Given the description of an element on the screen output the (x, y) to click on. 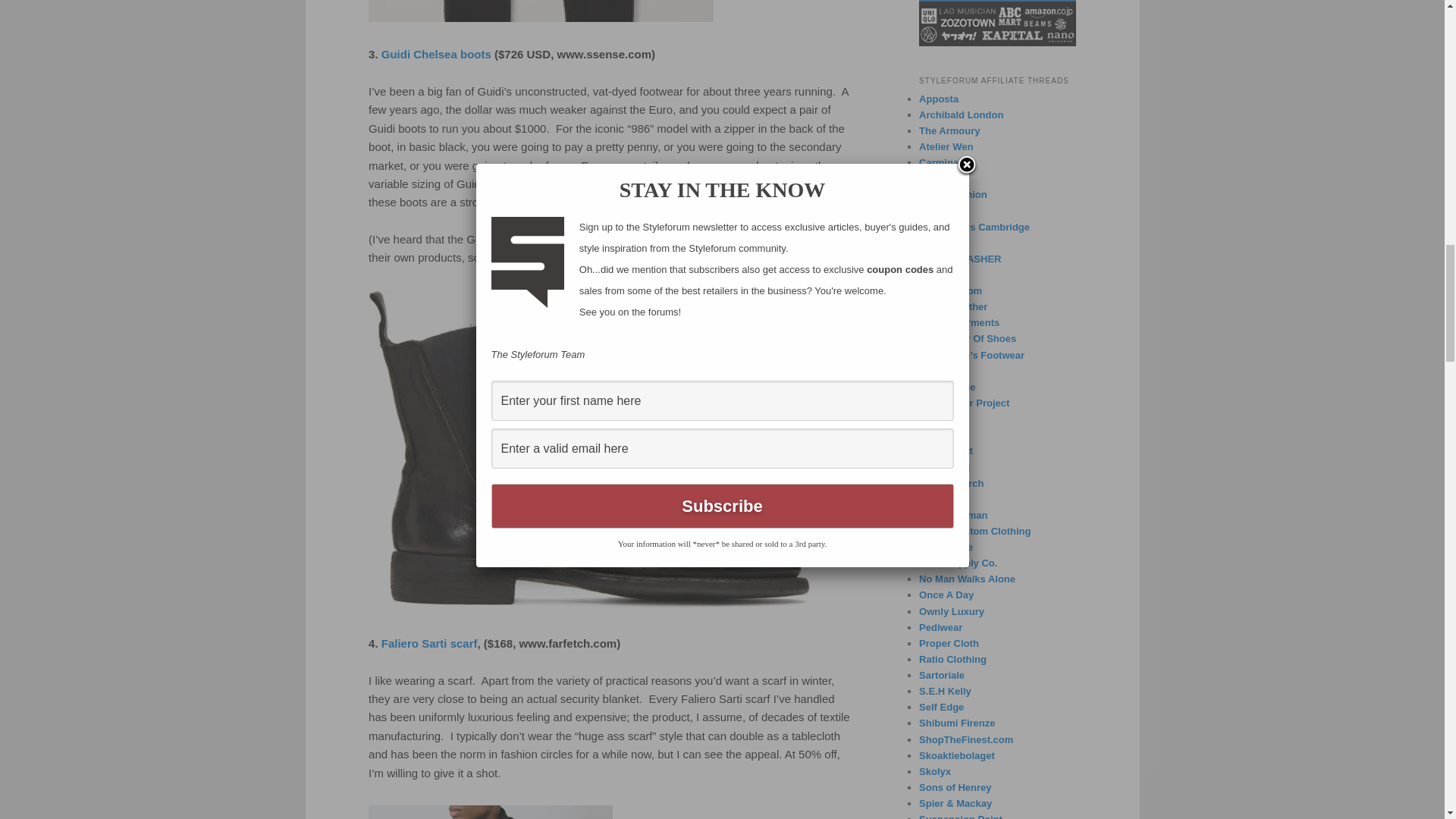
Guidi Chelsea boots (436, 53)
Faliero Sarti scarf (429, 643)
